Given the description of an element on the screen output the (x, y) to click on. 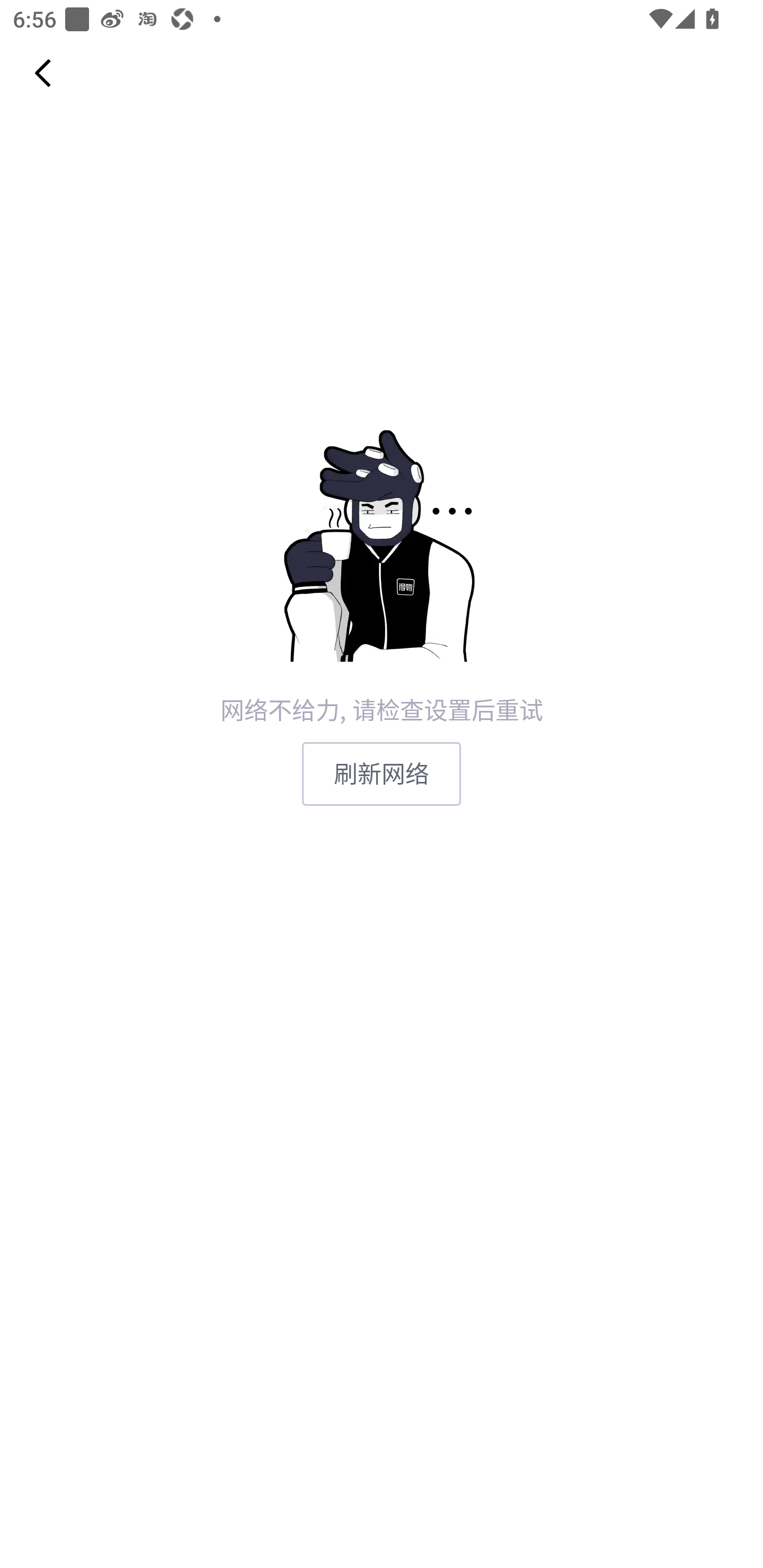
刷新网络 (381, 773)
